Given the description of an element on the screen output the (x, y) to click on. 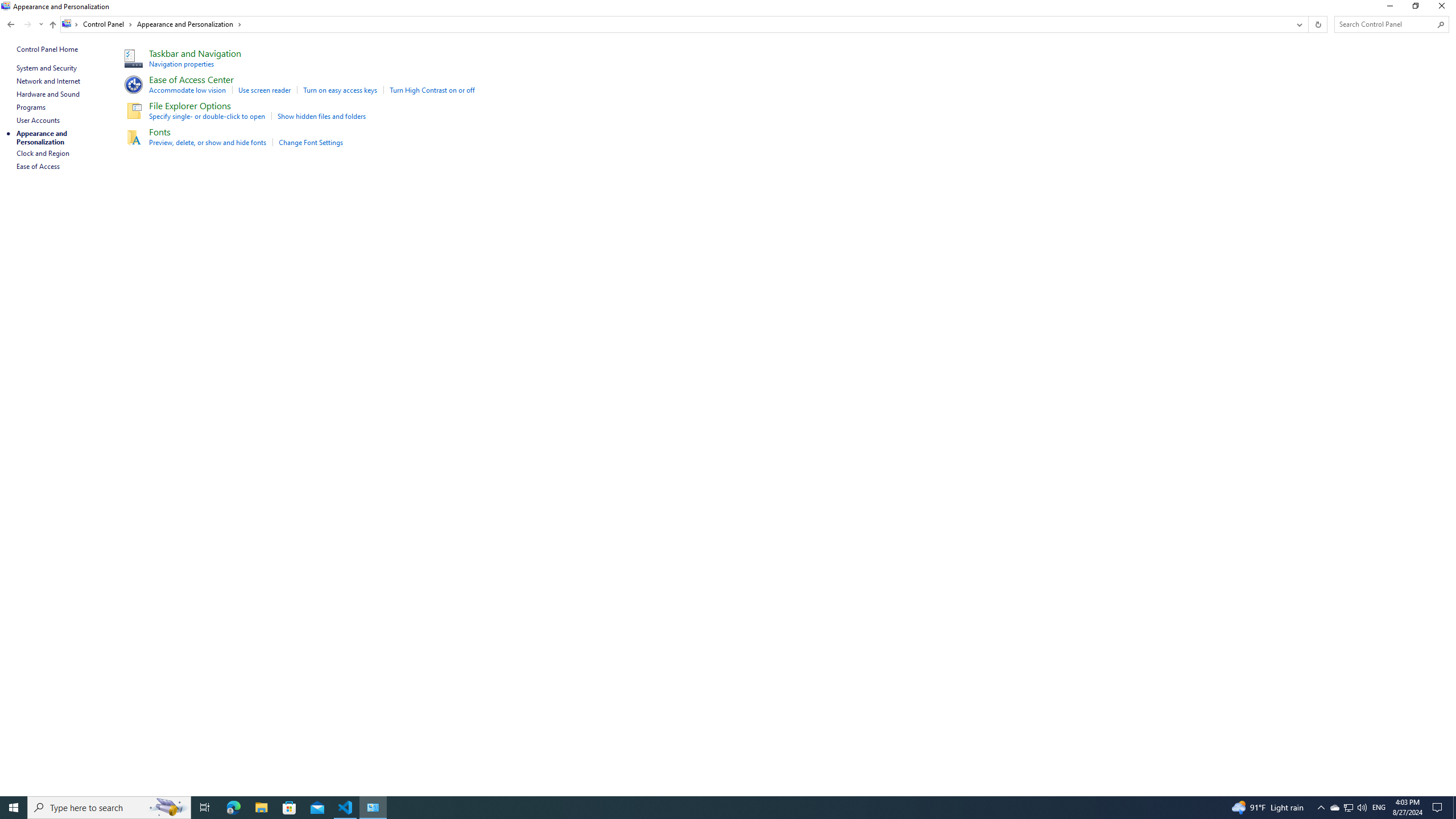
Action Center, No new notifications (1439, 807)
System (6, 6)
System (6, 6)
Use screen reader (264, 89)
Up to "Control Panel" (Alt + Up Arrow) (52, 24)
Control Panel (107, 23)
Search Box (1386, 23)
Address: Control Panel\Appearance and Personalization (675, 23)
Show desktop (1454, 807)
User Accounts (38, 120)
Tray Input Indicator - English (United States) (1378, 807)
Clock and Region (42, 153)
Type here to search (108, 807)
User Promoted Notification Area (1347, 807)
